Given the description of an element on the screen output the (x, y) to click on. 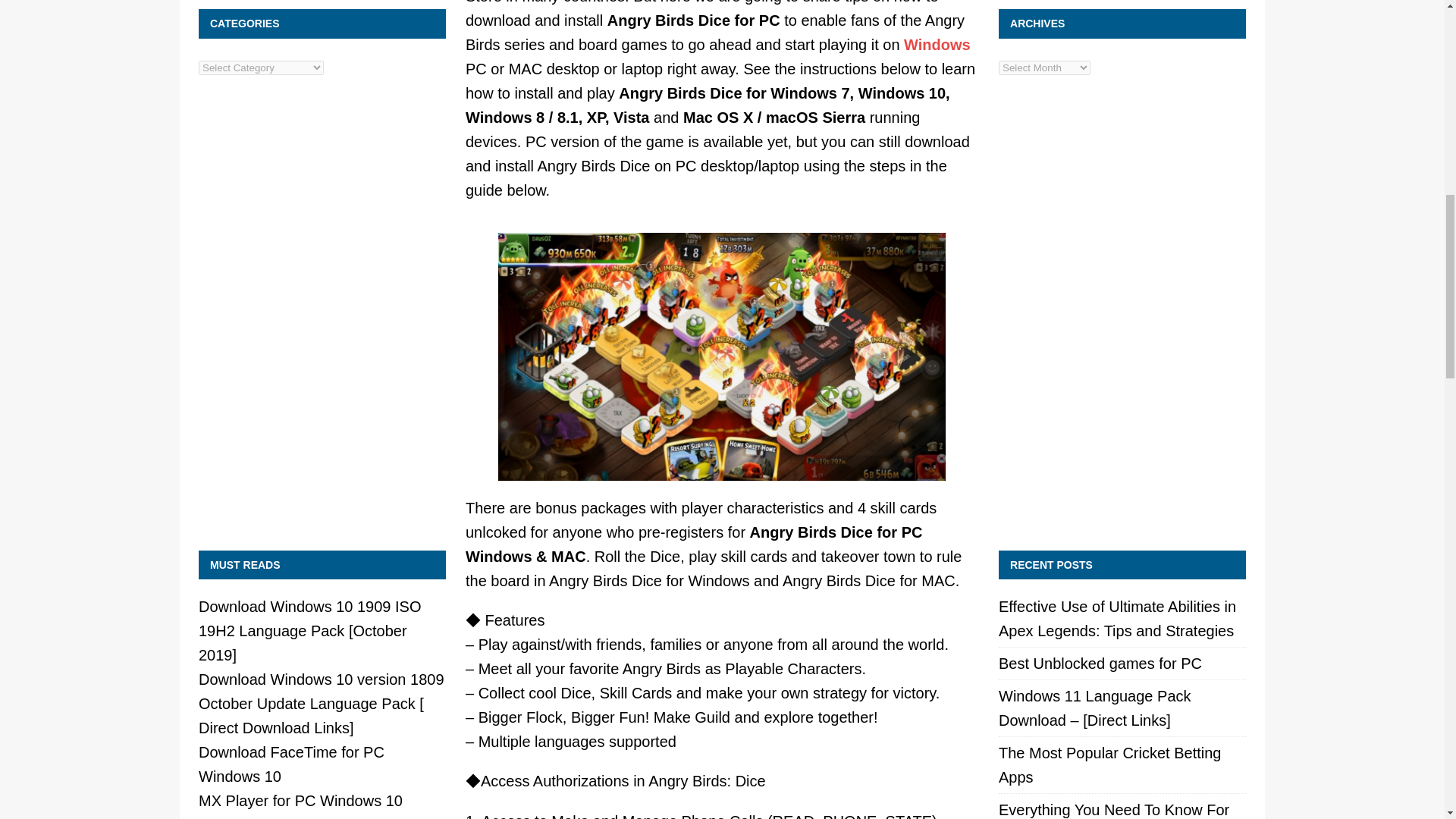
Advertisement (1122, 429)
The Most Popular Cricket Betting Apps (1109, 764)
MX Player for PC Windows 10 (300, 800)
Advertisement (321, 429)
Windows (937, 44)
Best Unblocked games for PC (1100, 663)
Download FaceTime for PC Windows 10 (291, 763)
